Given the description of an element on the screen output the (x, y) to click on. 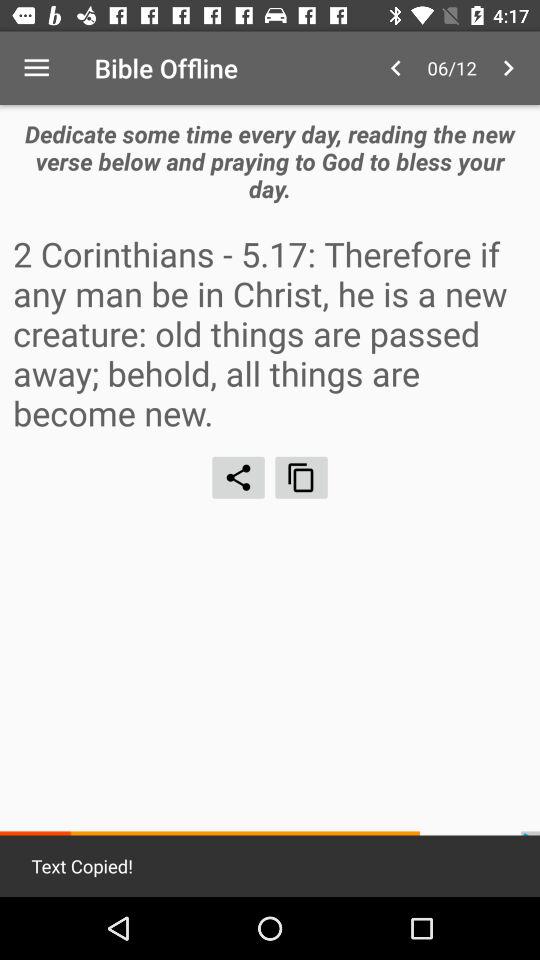
open the item above the dedicate some time (36, 68)
